Given the description of an element on the screen output the (x, y) to click on. 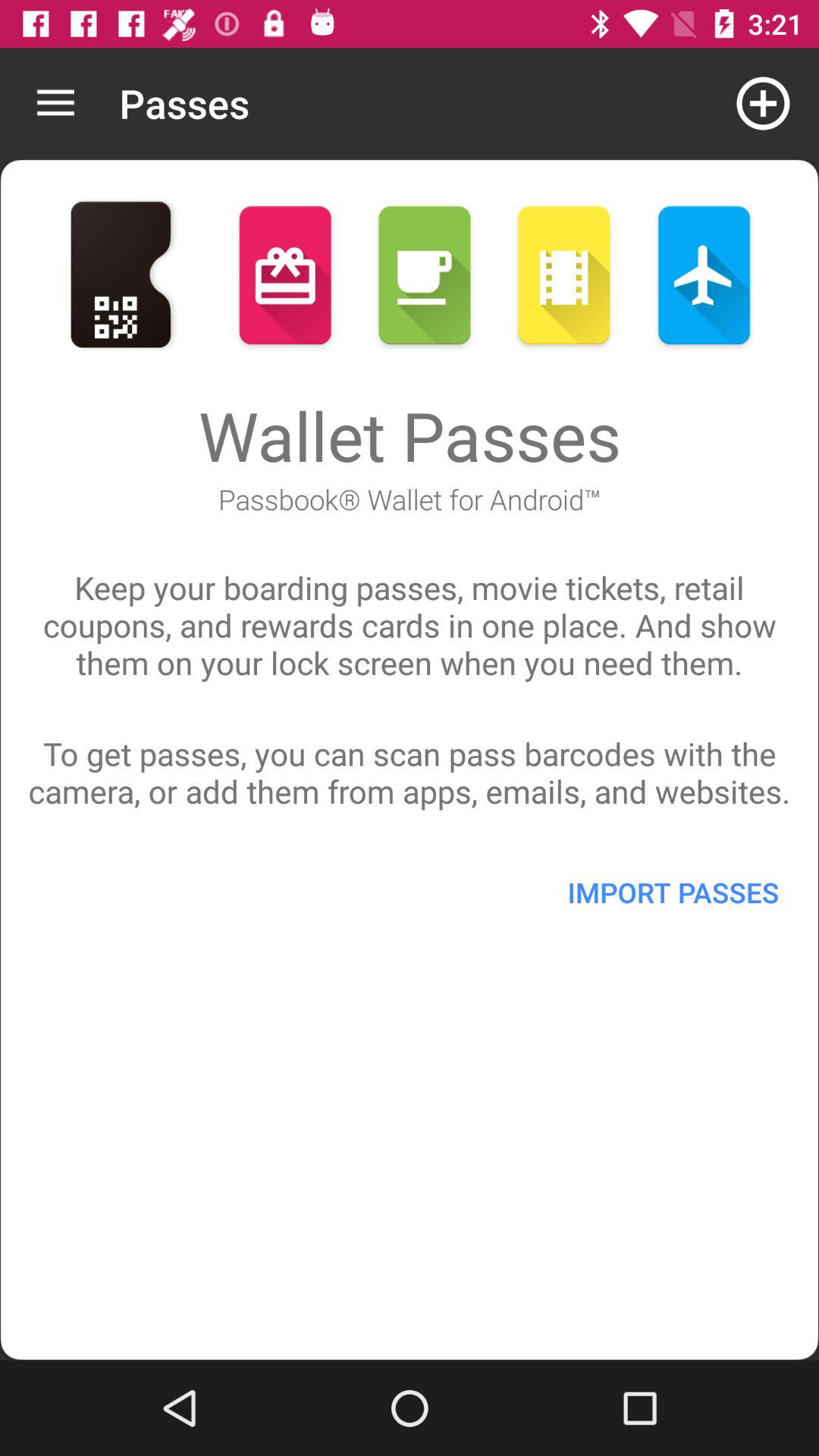
turn off the item on the right (673, 892)
